Given the description of an element on the screen output the (x, y) to click on. 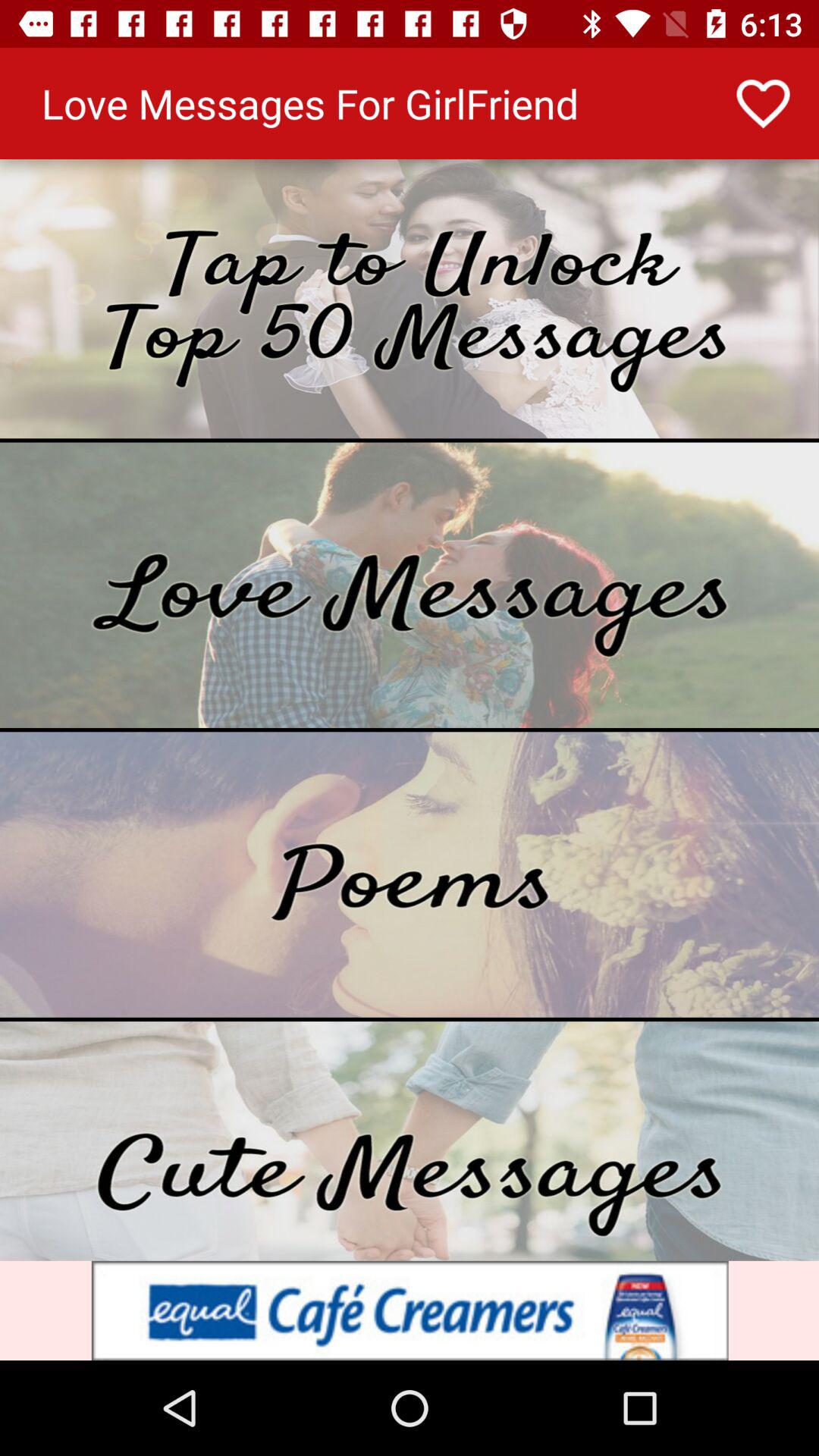
tap unlock top 50 messages button (409, 298)
